Given the description of an element on the screen output the (x, y) to click on. 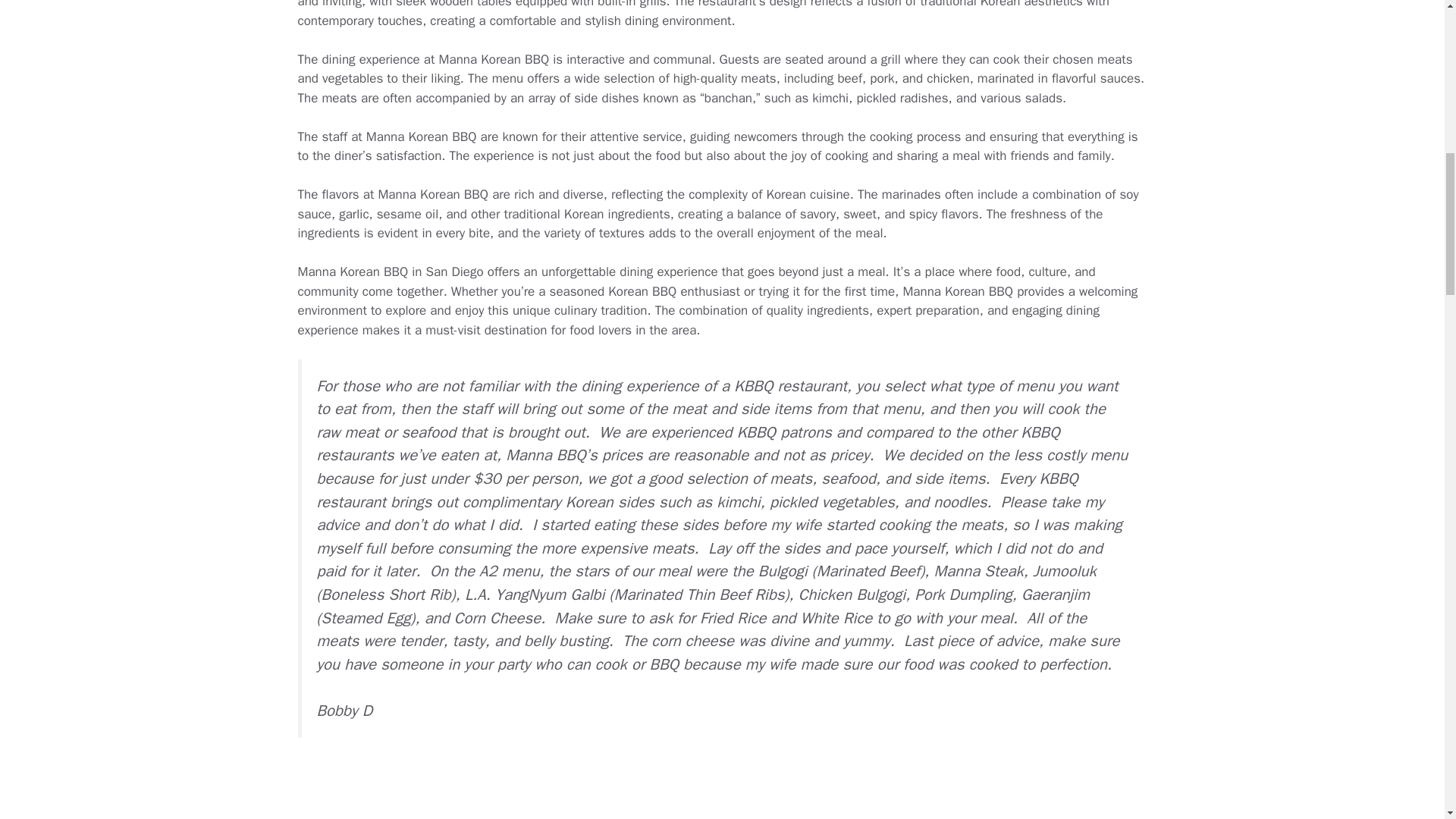
manna bbq bobby review (581, 789)
Scroll back to top (1406, 720)
